Given the description of an element on the screen output the (x, y) to click on. 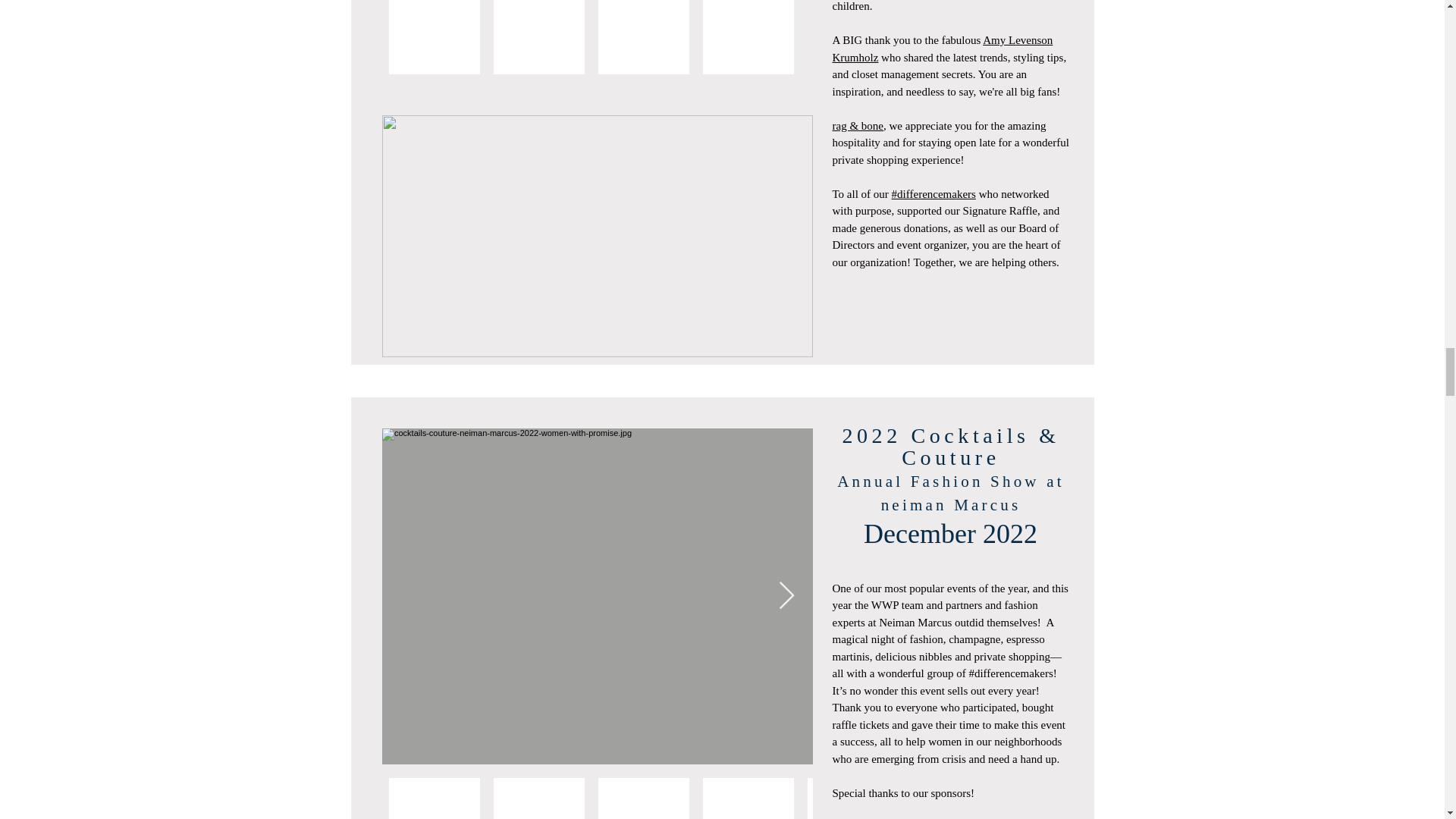
Amy Levenson Krumholz (942, 48)
Women With Promise Happiness Hour Sponsors (596, 236)
